Given the description of an element on the screen output the (x, y) to click on. 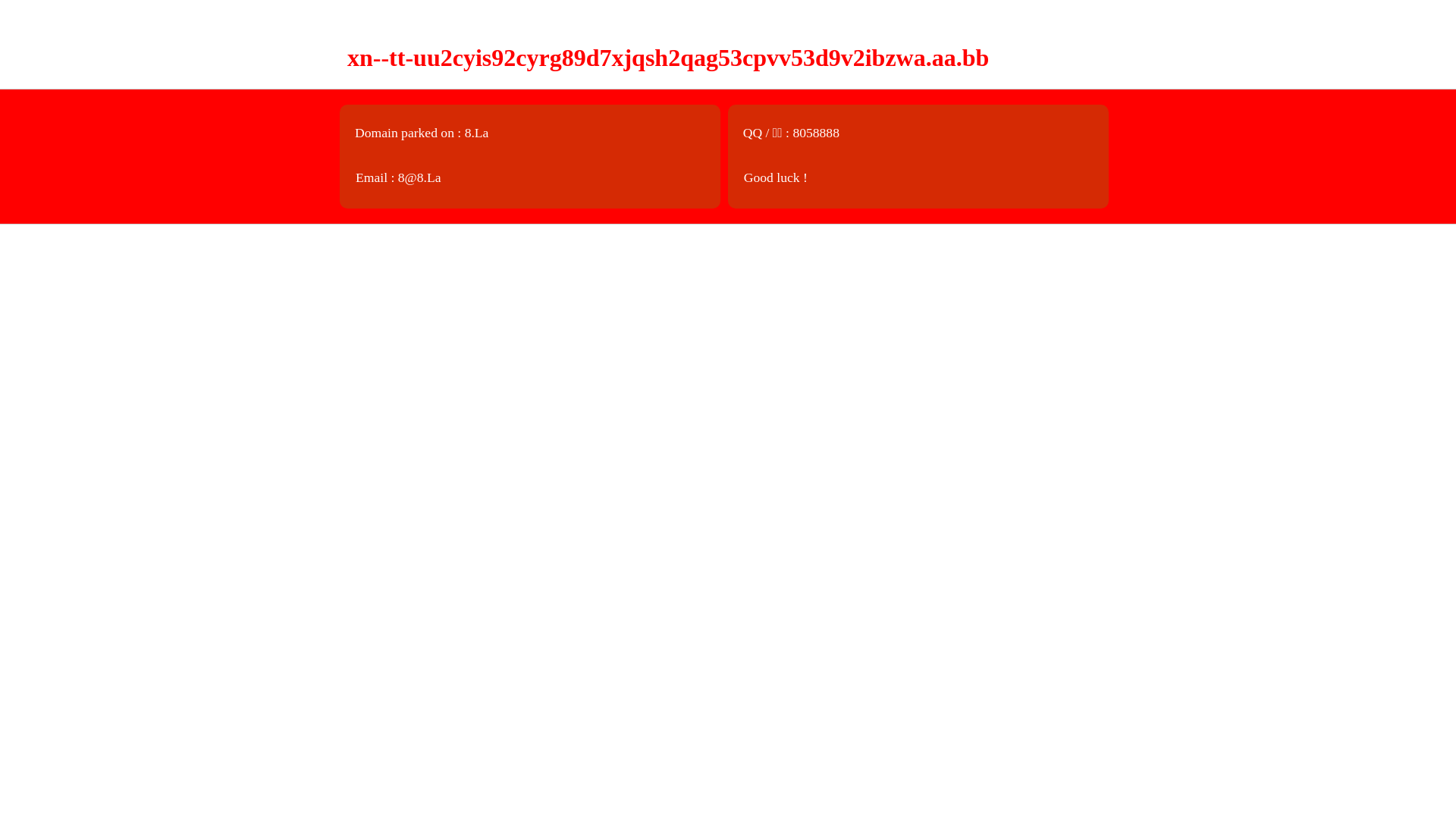
8@8.La Element type: text (419, 177)
8.La Element type: text (476, 132)
